Given the description of an element on the screen output the (x, y) to click on. 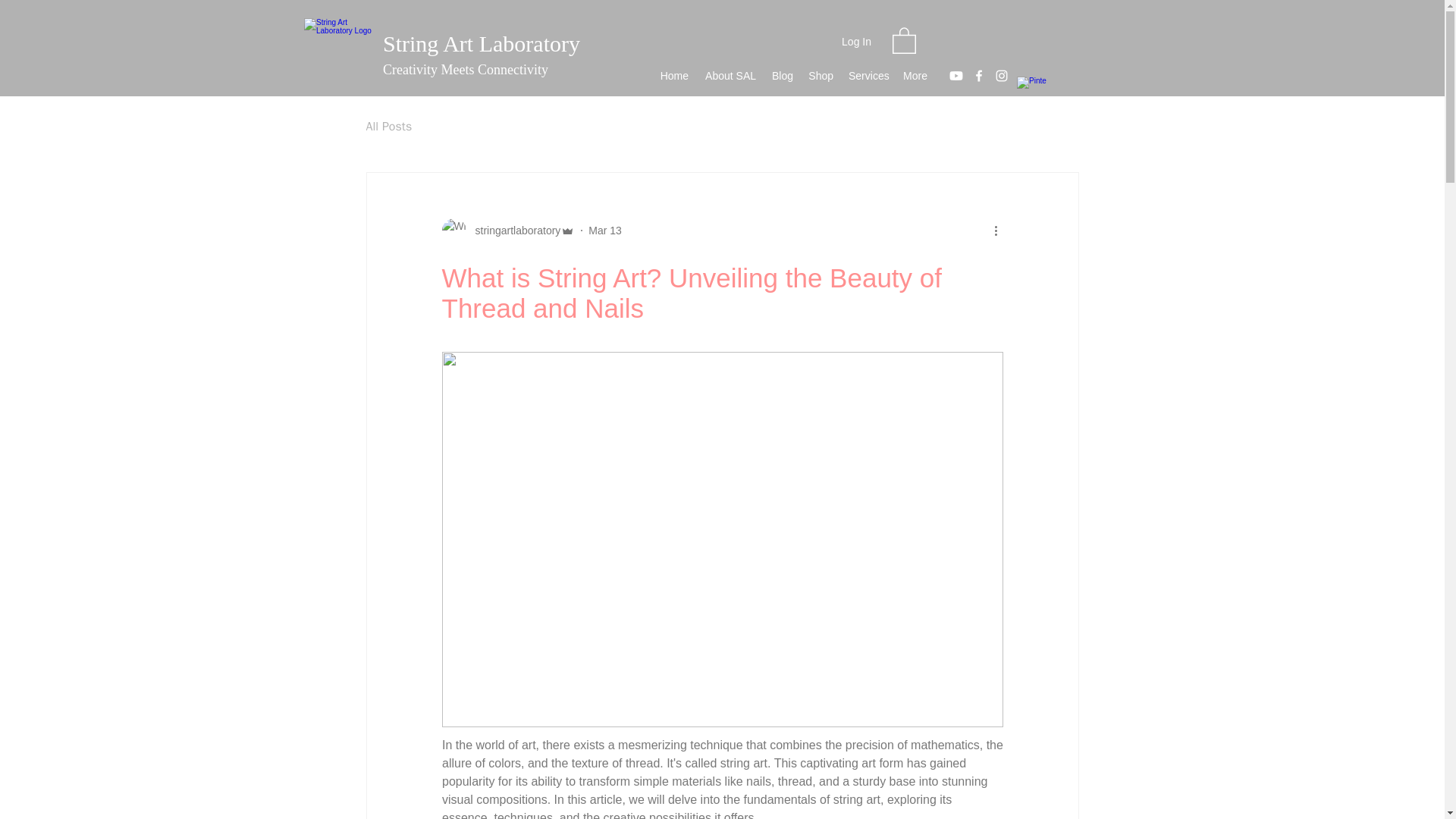
Creativity Meets Connectivity (465, 69)
Shop (820, 75)
All Posts (388, 125)
Blog (781, 75)
Services (868, 75)
Mar 13 (604, 230)
Home (673, 75)
About SAL (728, 75)
stringartlaboratory (512, 230)
stringartlaboratory (508, 230)
String Art Laboratory (480, 43)
Log In (856, 41)
